Given the description of an element on the screen output the (x, y) to click on. 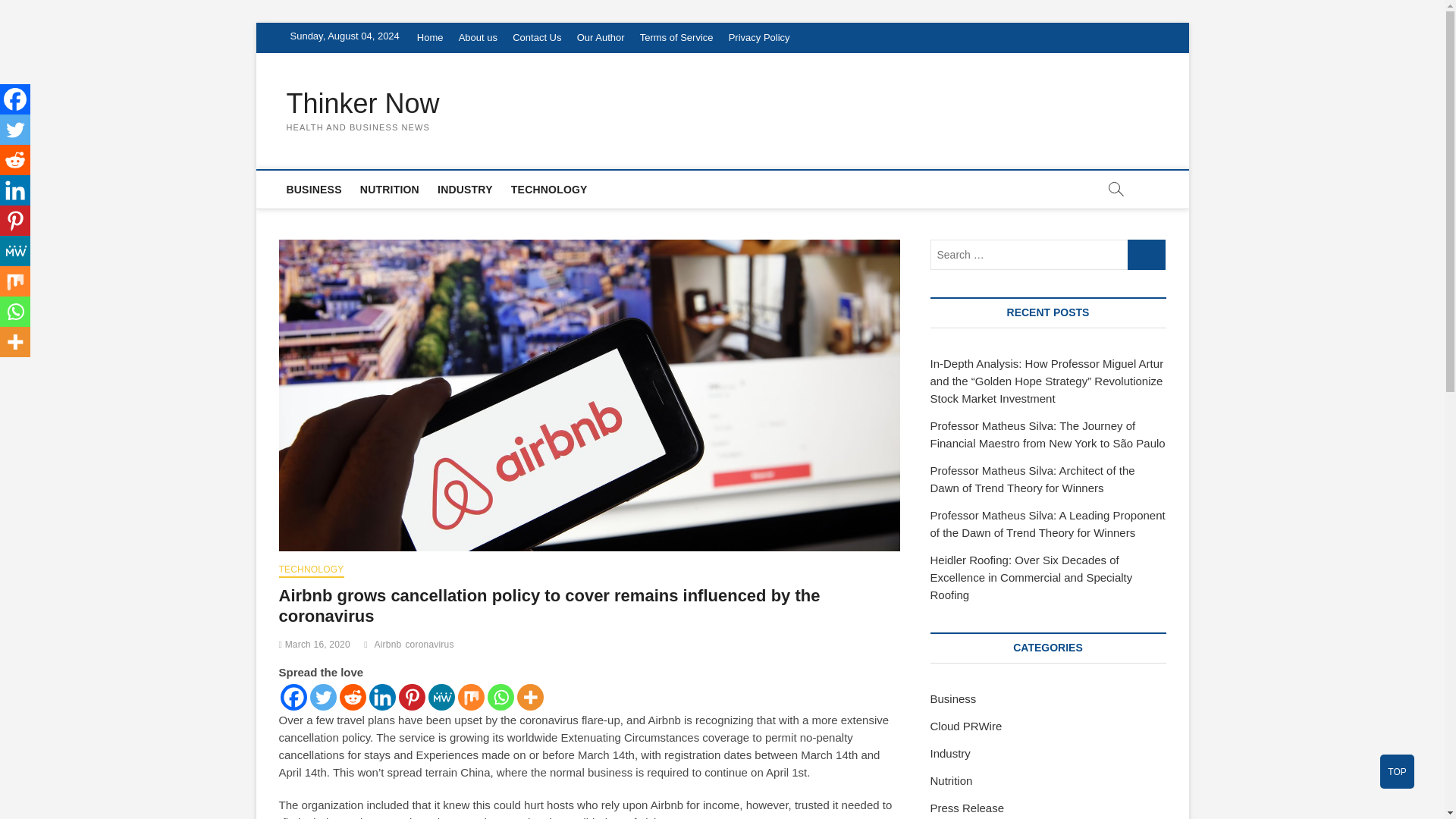
cloudflare.com (429, 96)
Additional troubleshooting information here. (947, 650)
Cloudflare (727, 327)
Cloudflare (927, 721)
Click to reveal (750, 722)
